Given the description of an element on the screen output the (x, y) to click on. 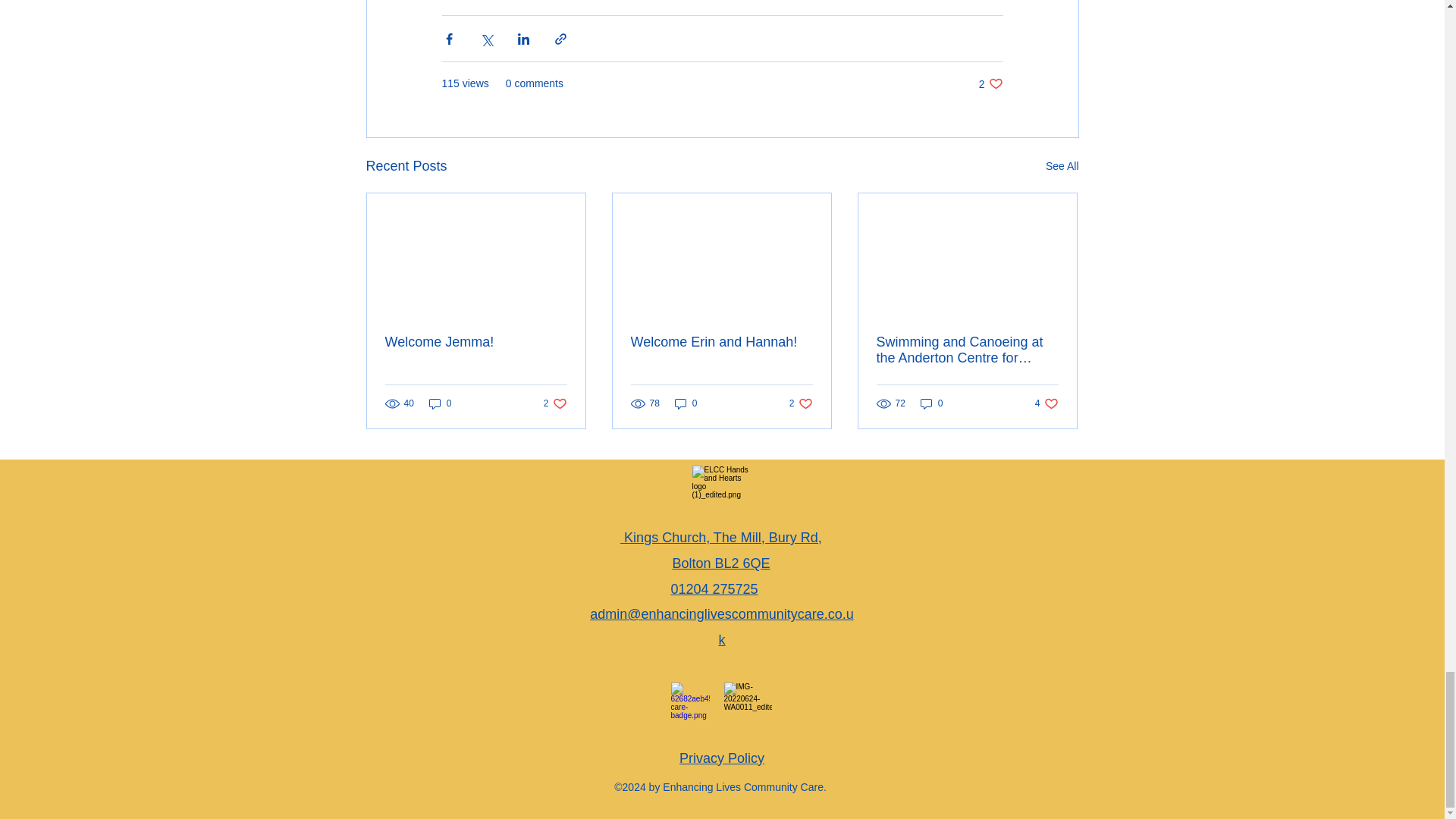
0 (440, 402)
Welcome Jemma! (476, 342)
Privacy Policy (555, 402)
Welcome Erin and Hannah! (721, 758)
 Kings Church, The Mill, Bury Rd, Bolton BL2 6QE (990, 83)
